Given the description of an element on the screen output the (x, y) to click on. 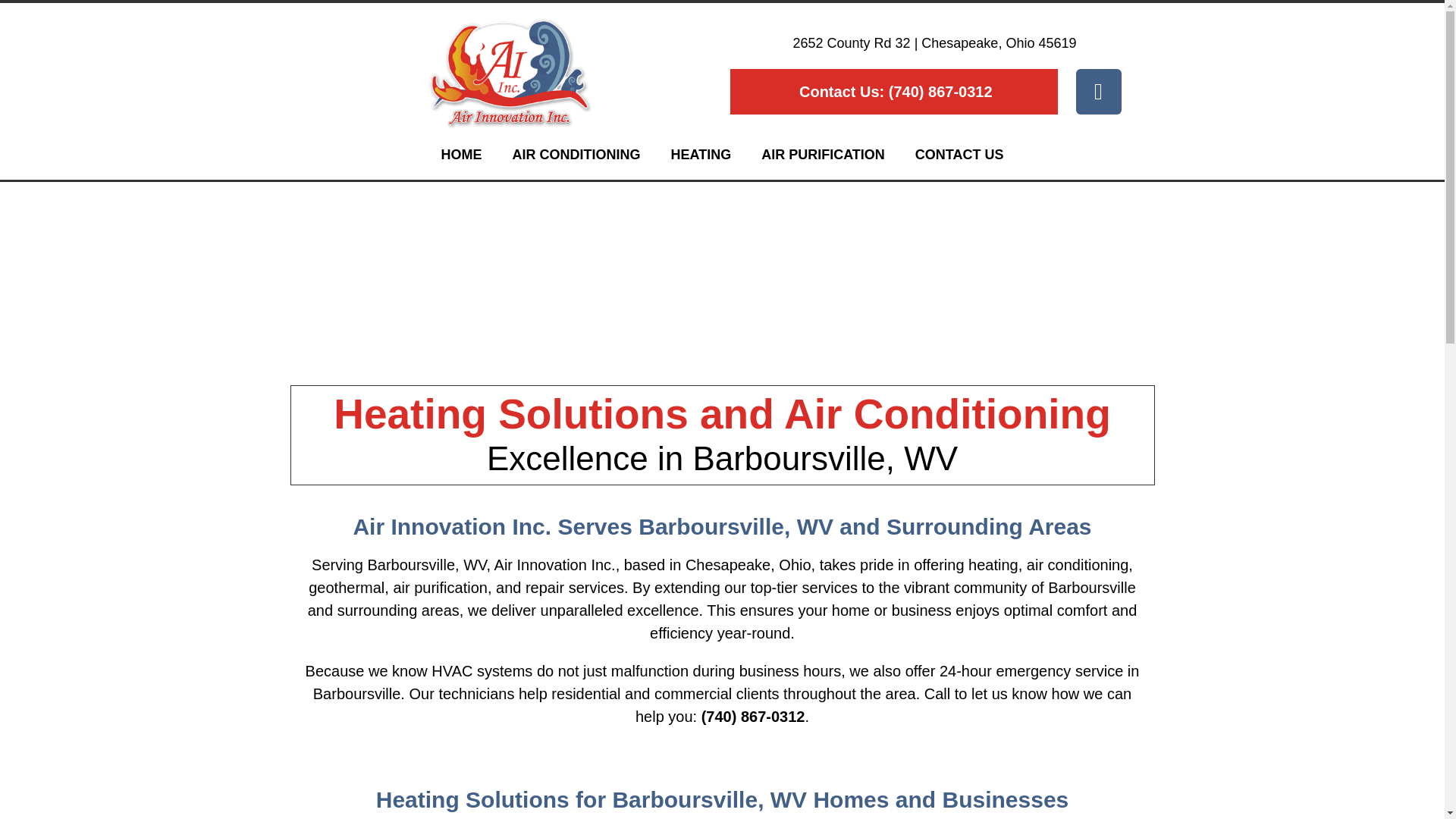
HEATING (700, 154)
HOME (460, 154)
AIR CONDITIONING (575, 154)
CONTACT US (959, 154)
AIR PURIFICATION (822, 154)
